Given the description of an element on the screen output the (x, y) to click on. 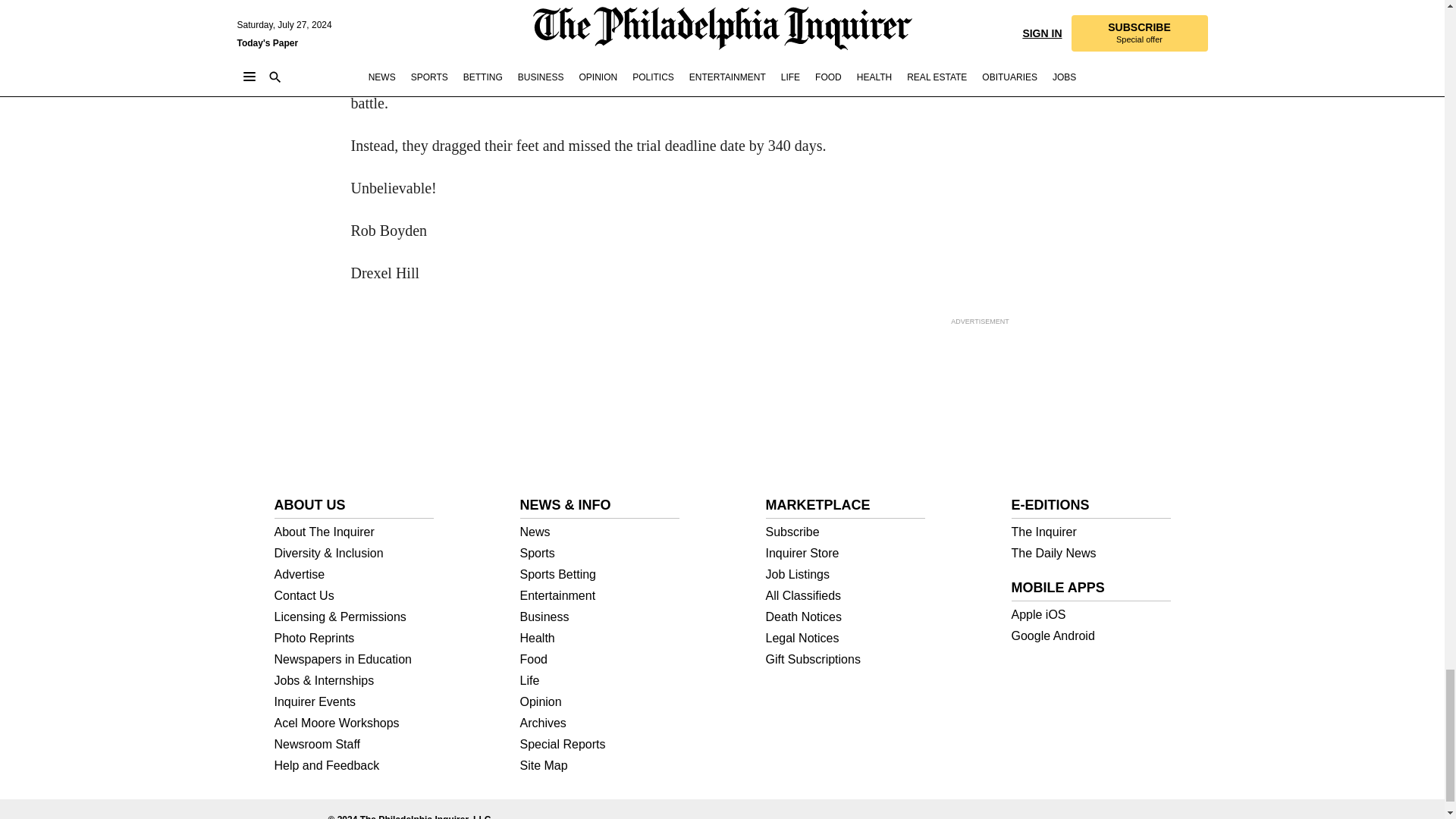
About The Inquirer (354, 532)
Photo Reprints (354, 638)
Advertise (354, 574)
Contact Us (354, 595)
